Given the description of an element on the screen output the (x, y) to click on. 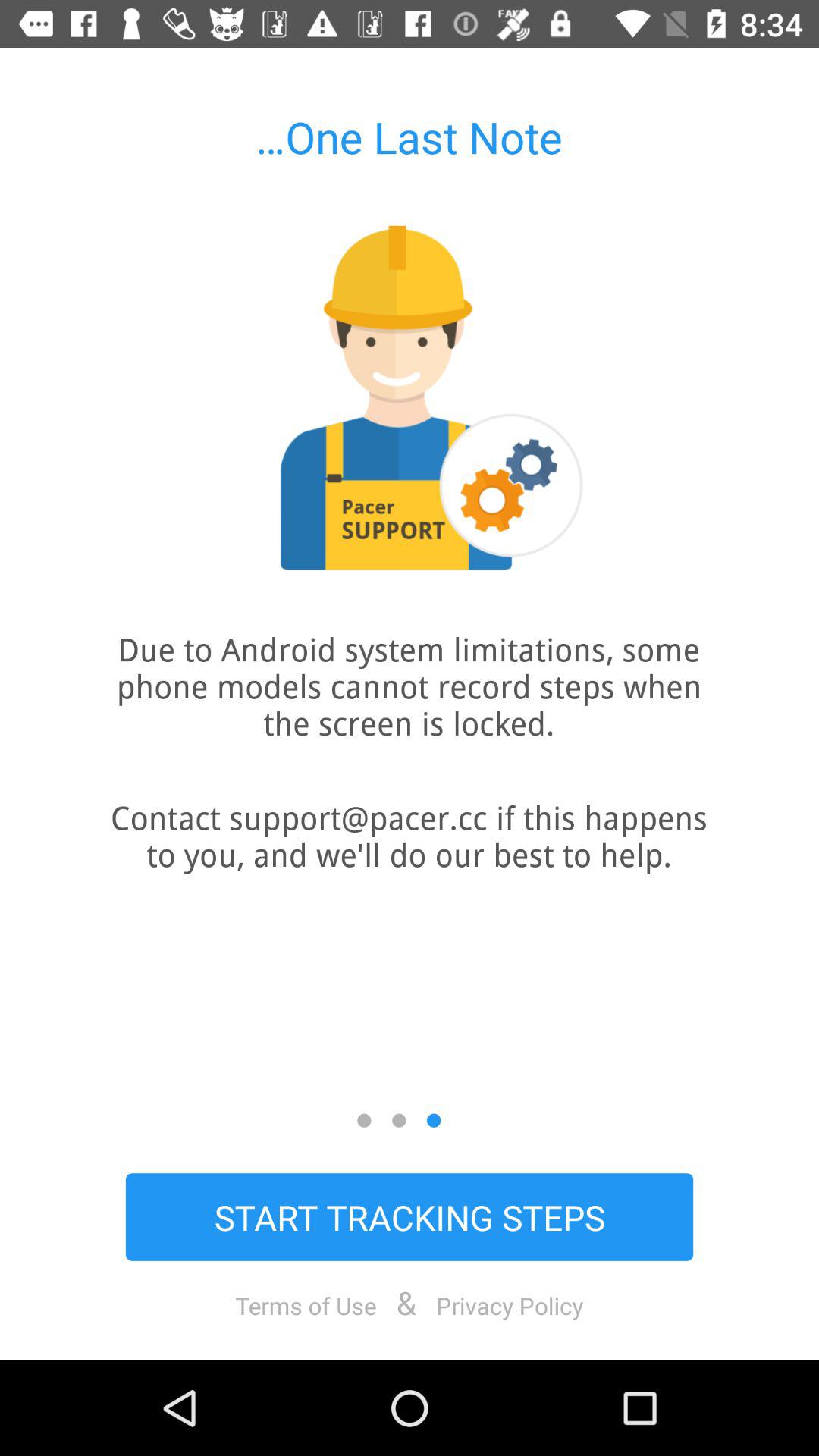
swipe until the terms of use item (305, 1305)
